Given the description of an element on the screen output the (x, y) to click on. 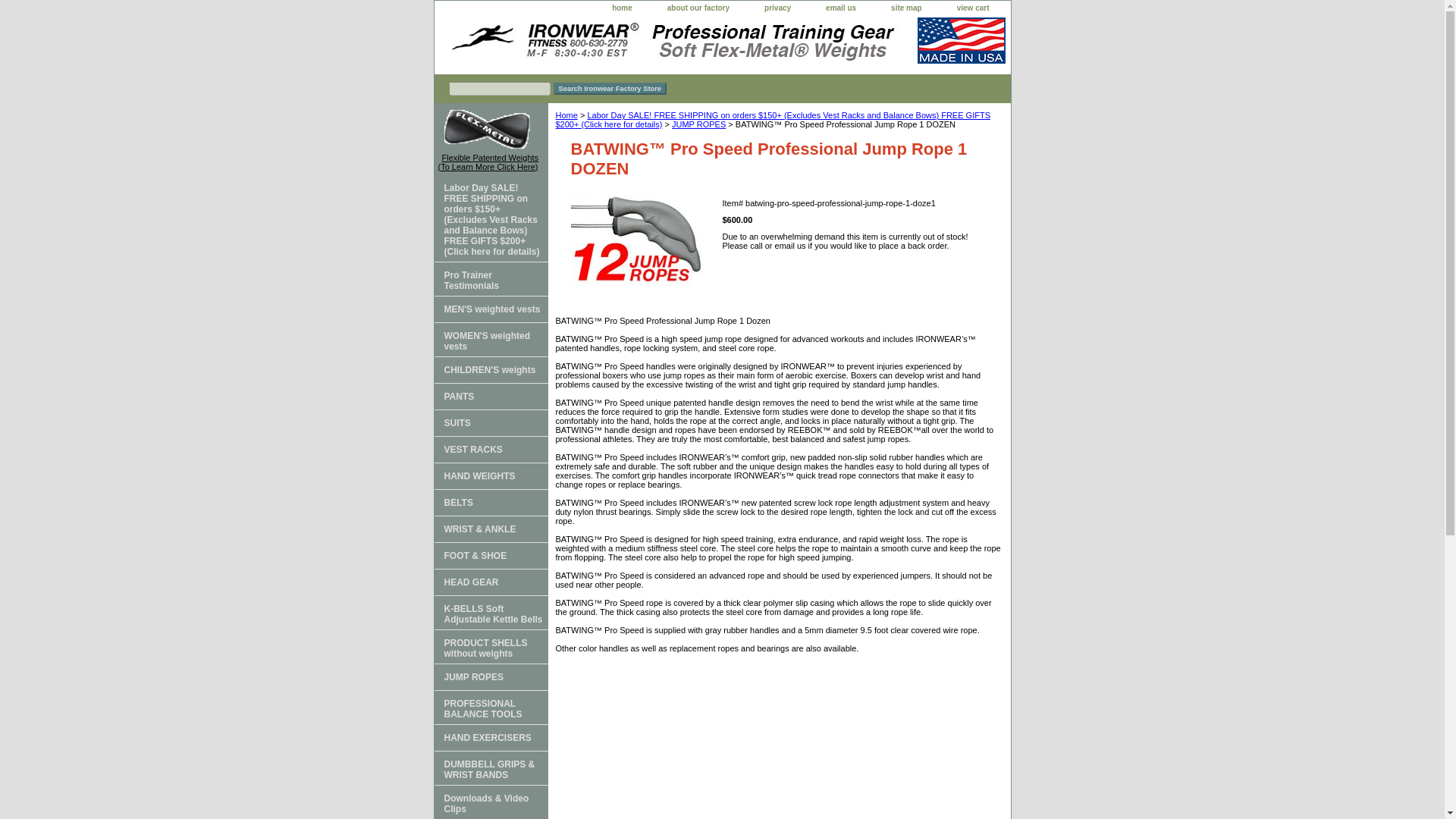
PROFESSIONAL BALANCE TOOLS (490, 706)
HAND WEIGHTS (490, 475)
Pro Trainer Testimonials (490, 279)
BELTS (490, 502)
PRODUCT SHELLS without weights (490, 646)
site map (906, 8)
MEN'S weighted vests (490, 308)
PANTS  (490, 397)
about our factory (698, 8)
email us (840, 8)
